Given the description of an element on the screen output the (x, y) to click on. 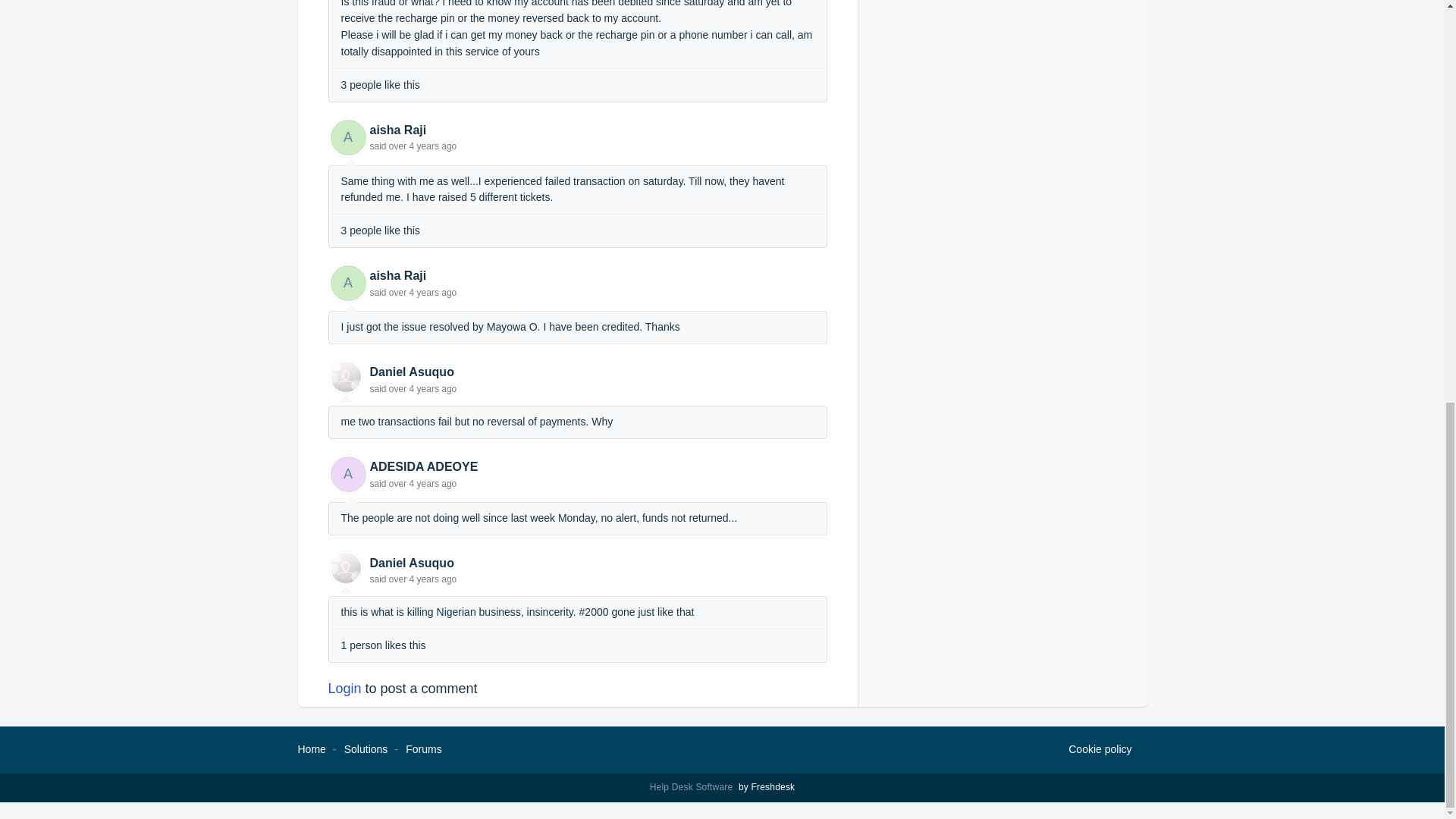
Login (344, 688)
Mon, 9 Mar, 2020 at  4:54 AM (422, 483)
Cookie policy (1099, 750)
Mon, 9 Mar, 2020 at  5:59 AM (422, 579)
Tue, 3 Mar, 2020 at  6:43 PM (422, 292)
Wed, 4 Mar, 2020 at  9:01 PM (422, 388)
Forums (423, 748)
Why we love Cookies (1099, 750)
Home (310, 748)
Solutions (365, 748)
Help Desk Software (693, 787)
Tue, 3 Mar, 2020 at  3:00 PM (422, 145)
